Given the description of an element on the screen output the (x, y) to click on. 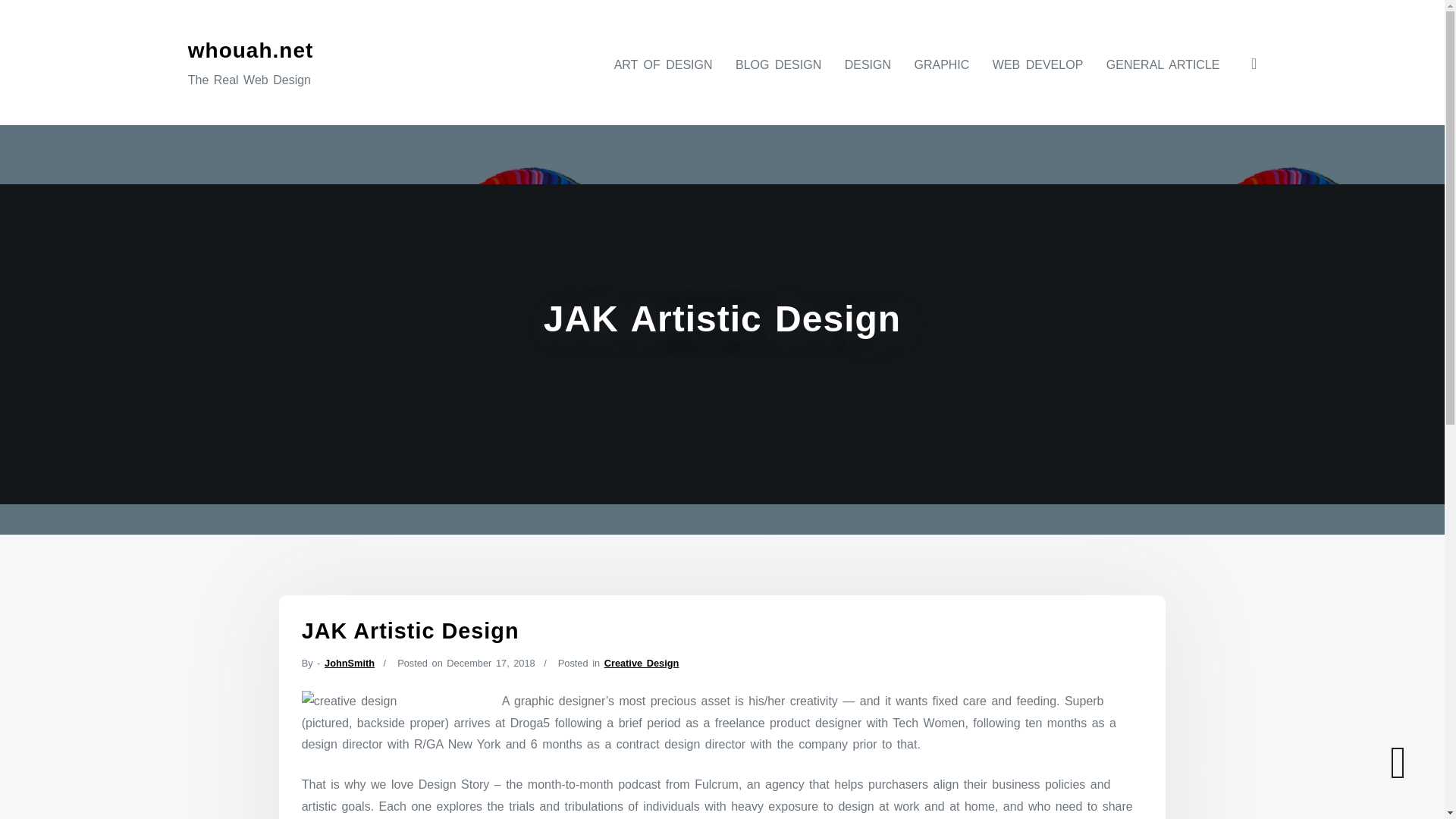
JohnSmith (349, 663)
BLOG DESIGN (777, 64)
WEB DEVELOP (1038, 64)
GENERAL ARTICLE (1162, 64)
DESIGN (867, 64)
ART OF DESIGN (663, 64)
whouah.net (250, 50)
GRAPHIC (941, 64)
Creative Design (641, 663)
